Given the description of an element on the screen output the (x, y) to click on. 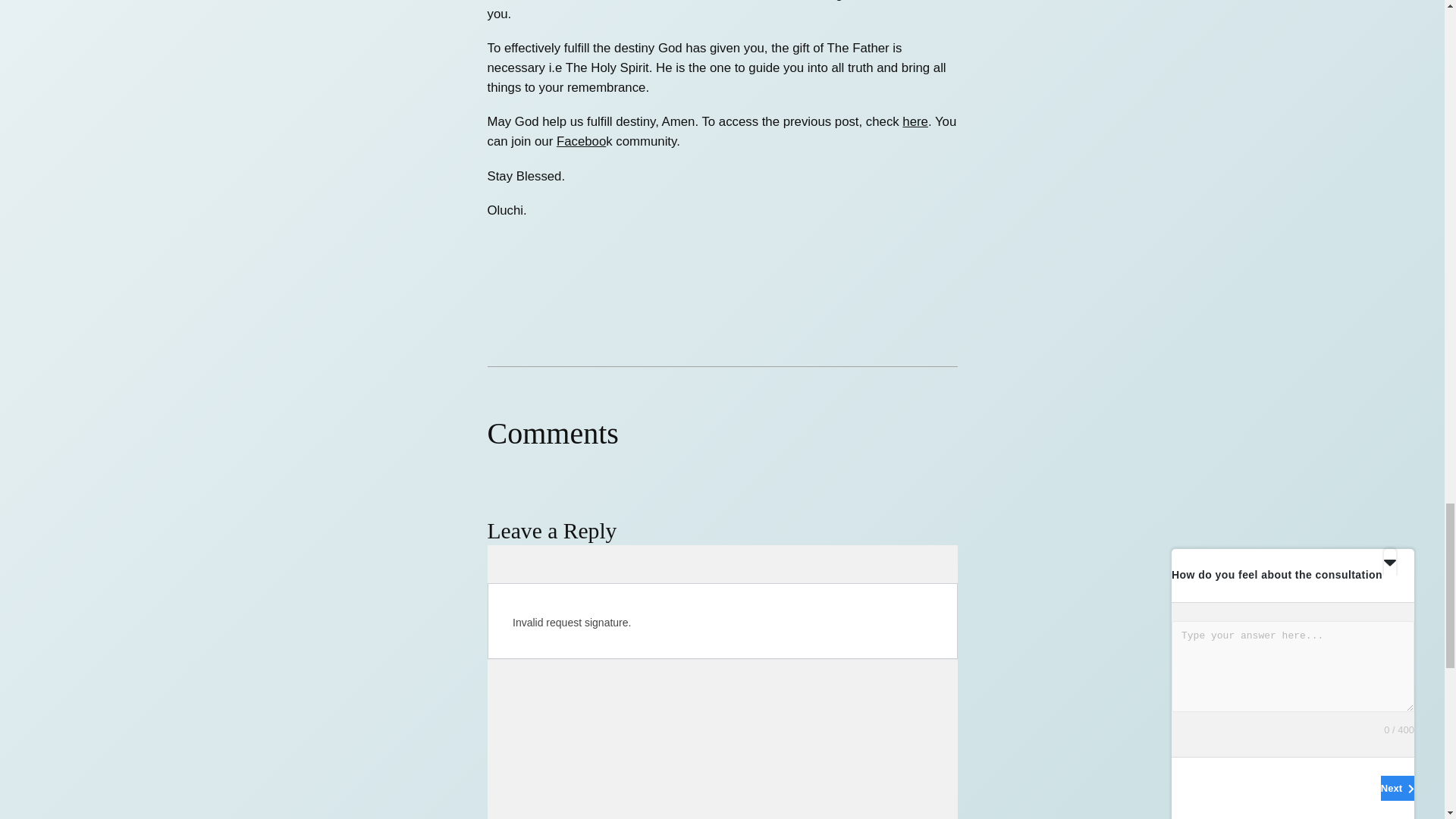
Faceboo (580, 141)
here (915, 121)
Comment Form (721, 682)
